Given the description of an element on the screen output the (x, y) to click on. 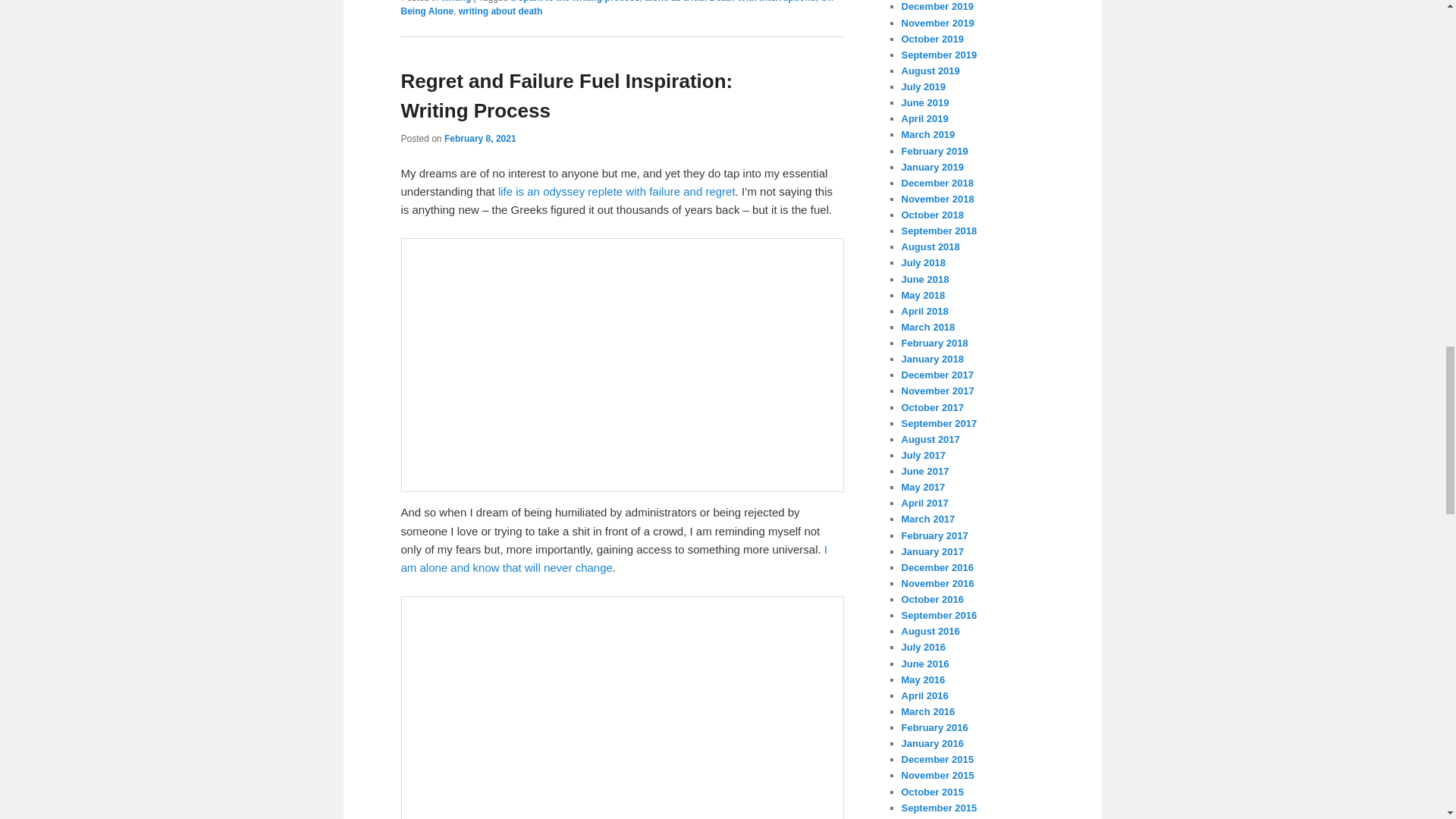
2:03 pm (480, 138)
Death With Interruptions (762, 1)
a spark to the writing process (575, 1)
On Being Alone (616, 8)
writing (455, 1)
alone as a kid (674, 1)
